Given the description of an element on the screen output the (x, y) to click on. 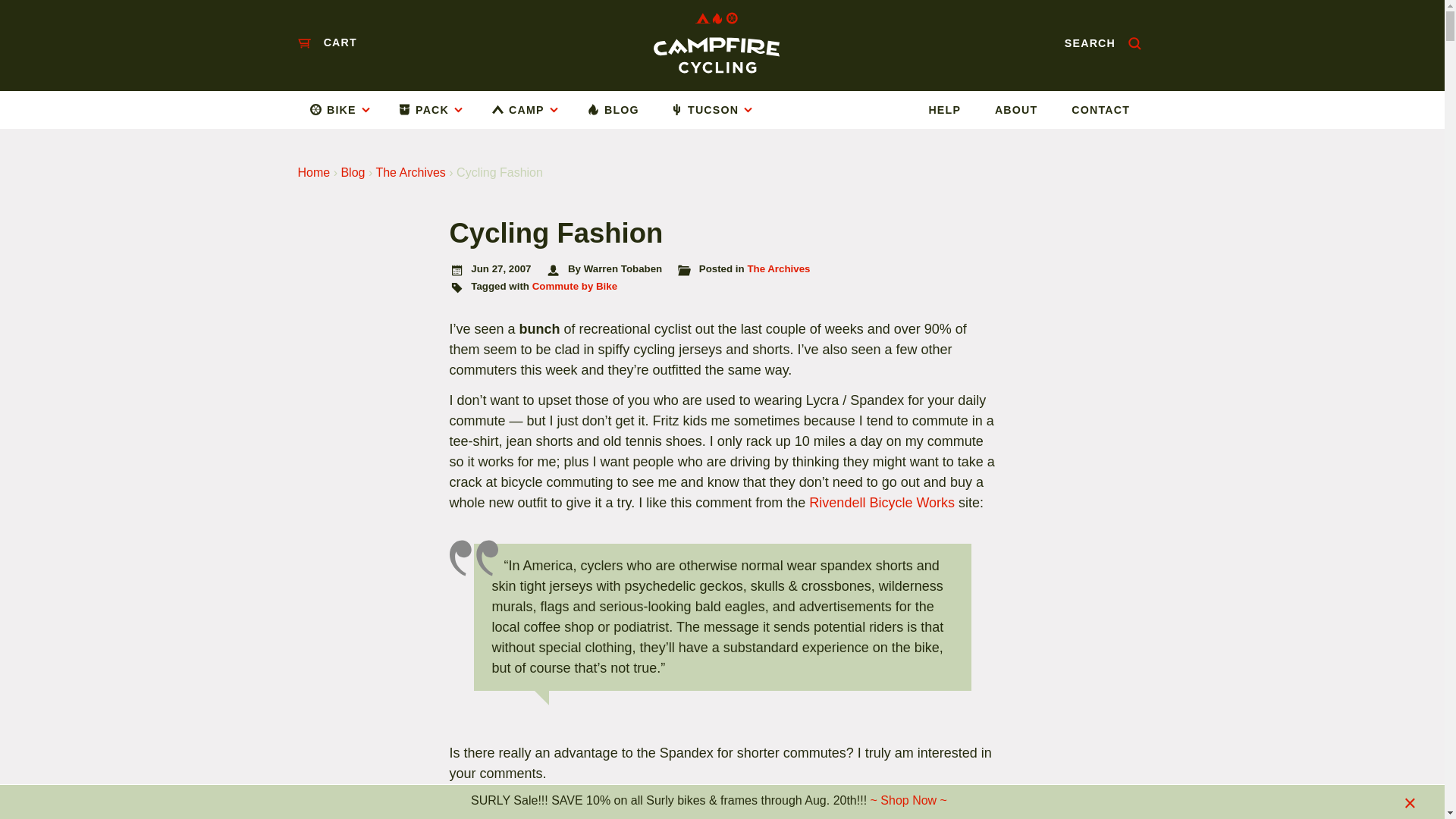
to home page (715, 42)
BIKE (346, 109)
SEARCH (1102, 42)
CART (326, 42)
